Given the description of an element on the screen output the (x, y) to click on. 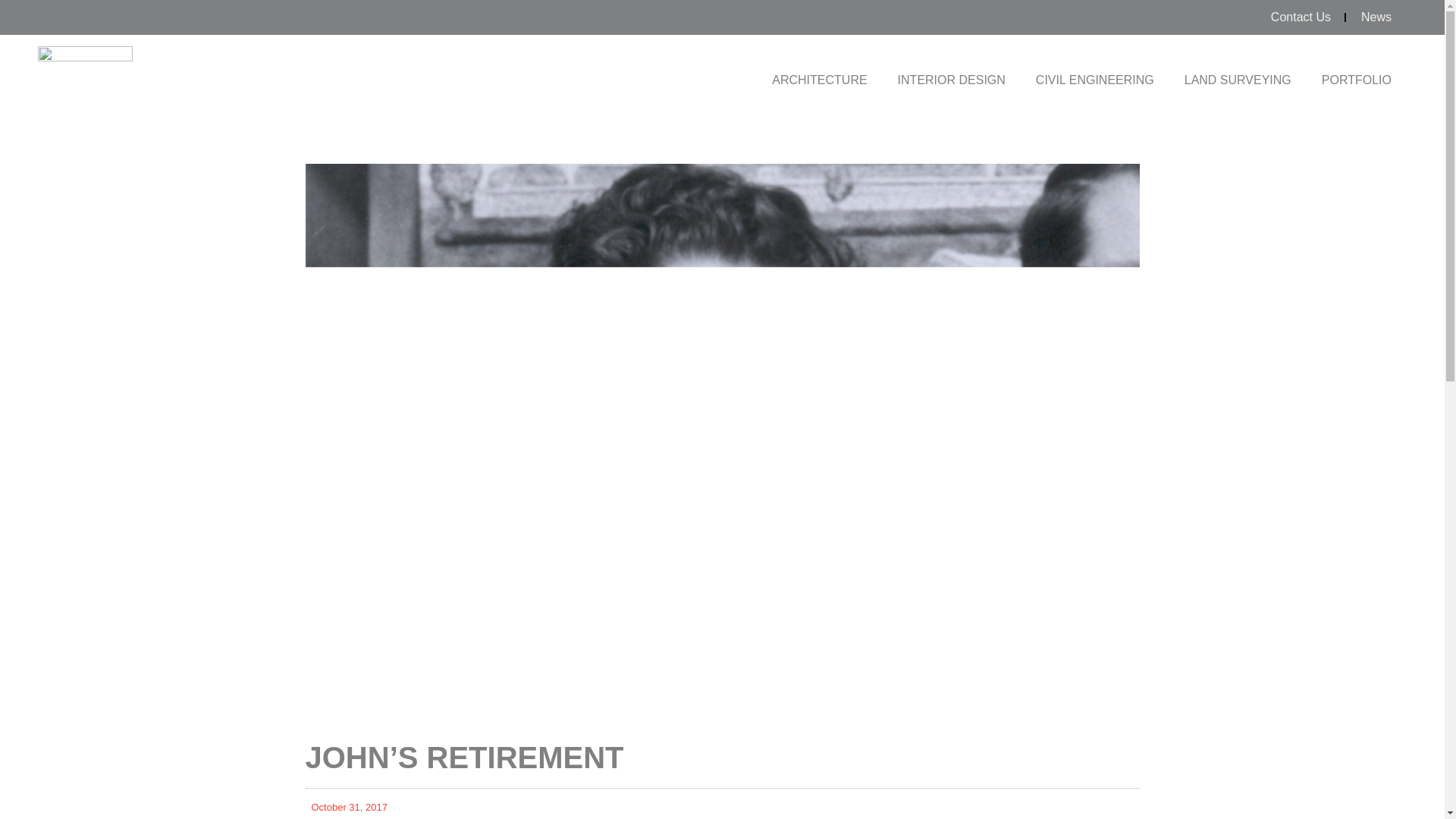
LAND SURVEYING (1237, 80)
News (1375, 17)
Contact Us (1300, 17)
ARCHITECTURE (819, 80)
PORTFOLIO (1356, 80)
INTERIOR DESIGN (951, 80)
CIVIL ENGINEERING (1094, 80)
